Given the description of an element on the screen output the (x, y) to click on. 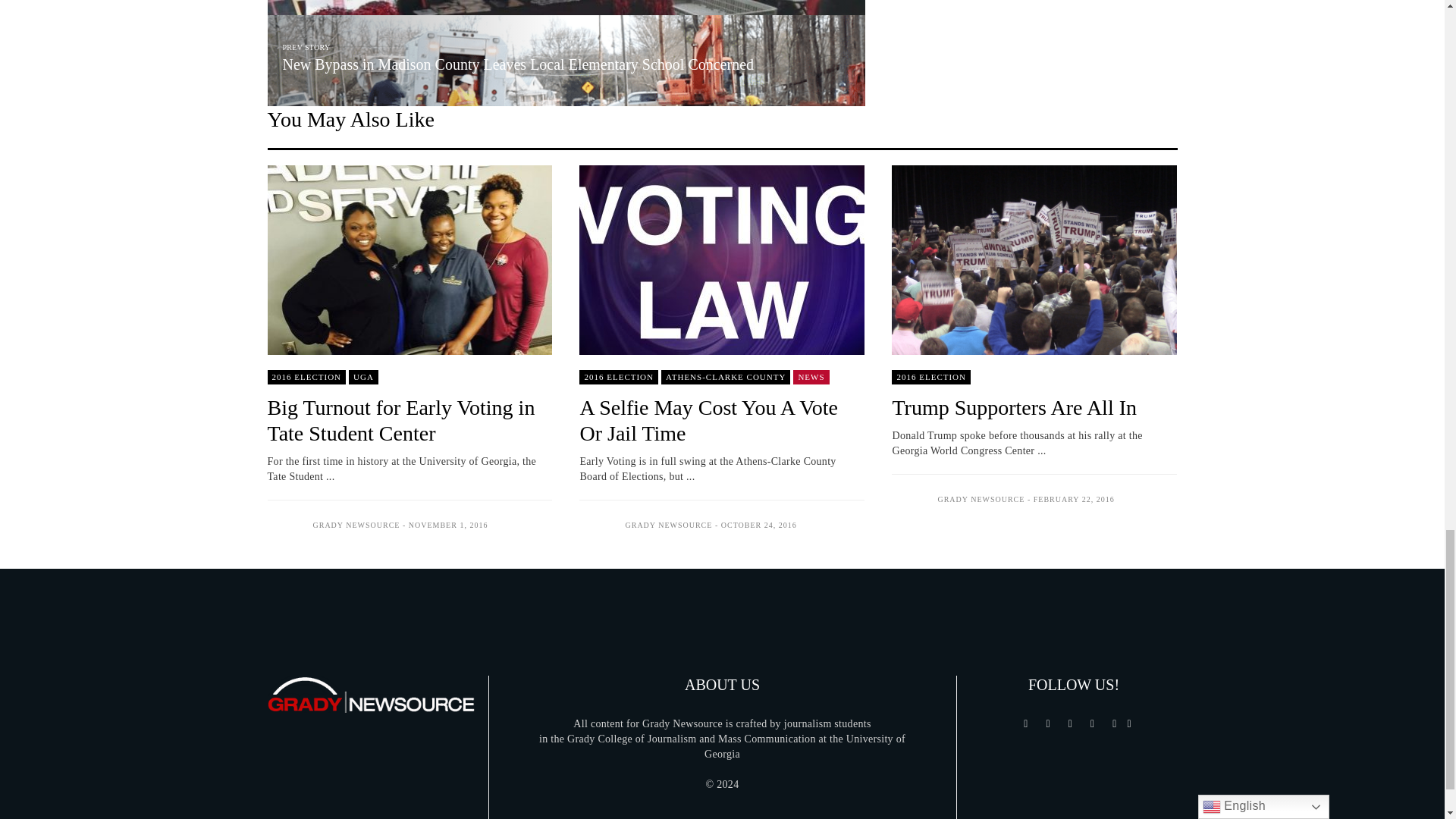
View all posts in 35 (363, 377)
View all posts in 2363 (931, 377)
View all posts in 2363 (306, 377)
View all posts in 26 (810, 377)
View all posts in 30 (725, 377)
View all posts in 2363 (618, 377)
